Given the description of an element on the screen output the (x, y) to click on. 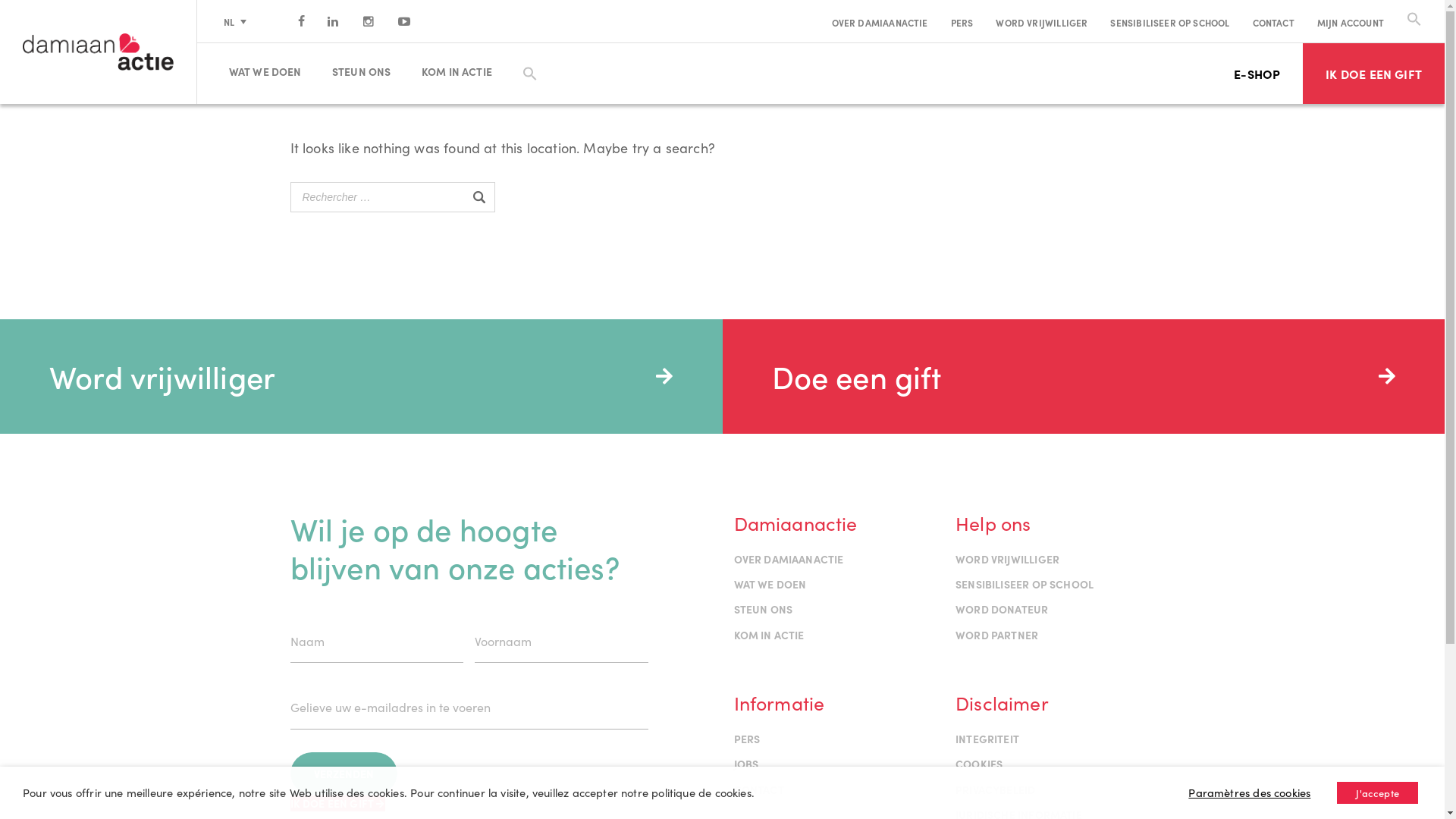
PERS Element type: text (747, 738)
WORD VRIJWILLIGER Element type: text (1041, 21)
KOM IN ACTIE Element type: text (769, 634)
WORD PARTNER Element type: text (996, 634)
IK DOE EEN GIFT Element type: text (1373, 73)
PERS Element type: text (962, 21)
IK DOE EEN GIFT Element type: text (336, 803)
JOBS Element type: text (746, 763)
OVER DAMIAANACTIE Element type: text (789, 558)
NL Element type: text (235, 21)
MIJN ACCOUNT Element type: text (1350, 21)
E-SHOP Element type: text (1256, 73)
INTEGRITEIT Element type: text (987, 738)
Doe een gift Element type: text (1082, 376)
SENSIBILISEER OP SCHOOL Element type: text (1024, 583)
WORD VRIJWILLIGER Element type: text (1007, 558)
J'accepte Element type: text (1377, 792)
STEUN ONS Element type: text (367, 71)
KOM IN ACTIE Element type: text (462, 71)
Word vrijwilliger Element type: text (361, 376)
PRIVACYBELEID Element type: text (995, 789)
SENSIBILISEER OP SCHOOL Element type: text (1169, 21)
STEUN ONS Element type: text (763, 608)
CONTACT Element type: text (1273, 21)
WORD DONATEUR Element type: text (1001, 608)
Verzenden Element type: text (342, 773)
CONTACT Element type: text (759, 789)
WAT WE DOEN Element type: text (271, 71)
OVER DAMIAANACTIE Element type: text (879, 21)
COOKIES Element type: text (978, 763)
WAT WE DOEN Element type: text (770, 583)
